Given the description of an element on the screen output the (x, y) to click on. 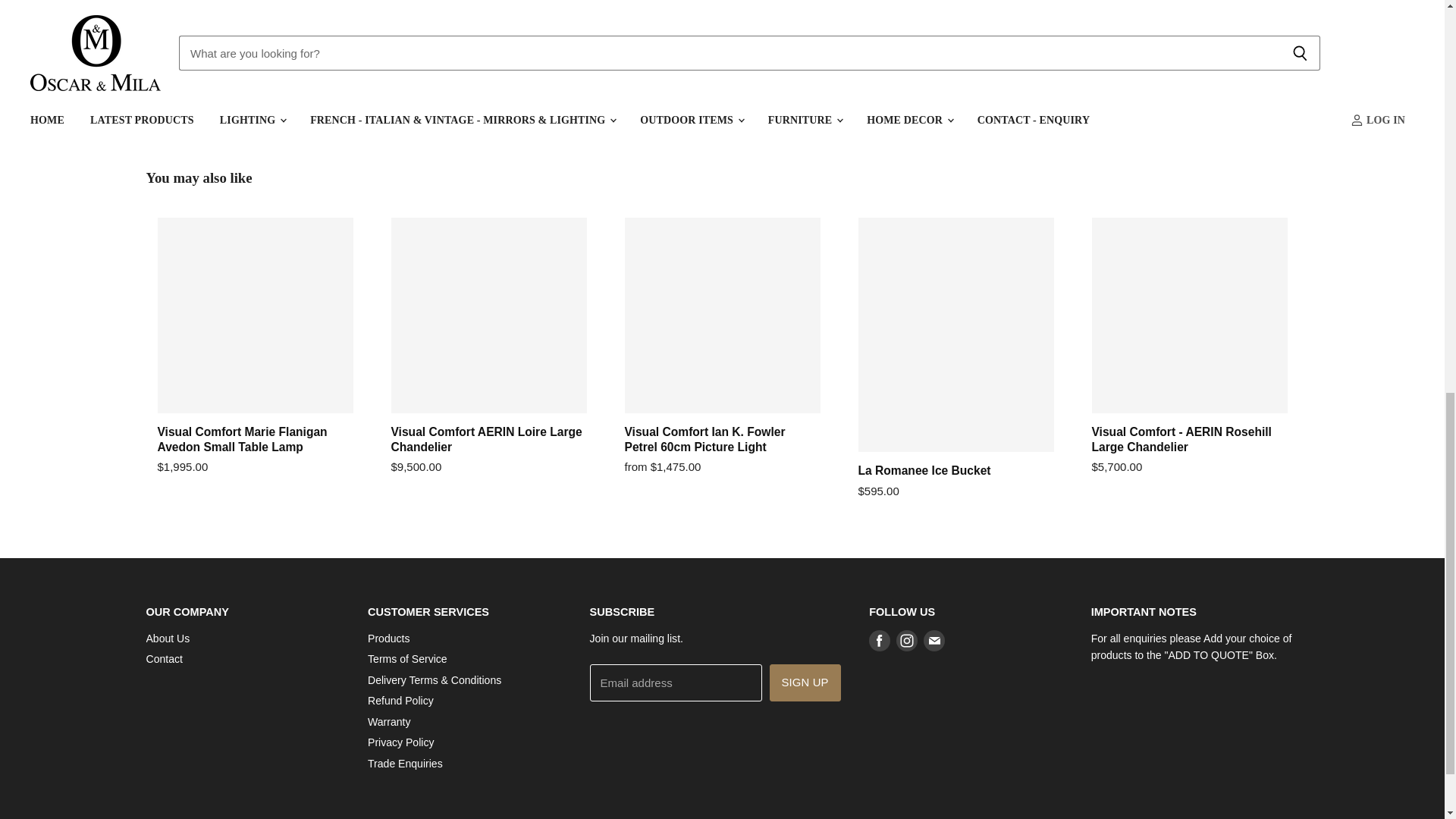
Facebook (879, 640)
Instagram (906, 640)
E-mail (933, 640)
